Given the description of an element on the screen output the (x, y) to click on. 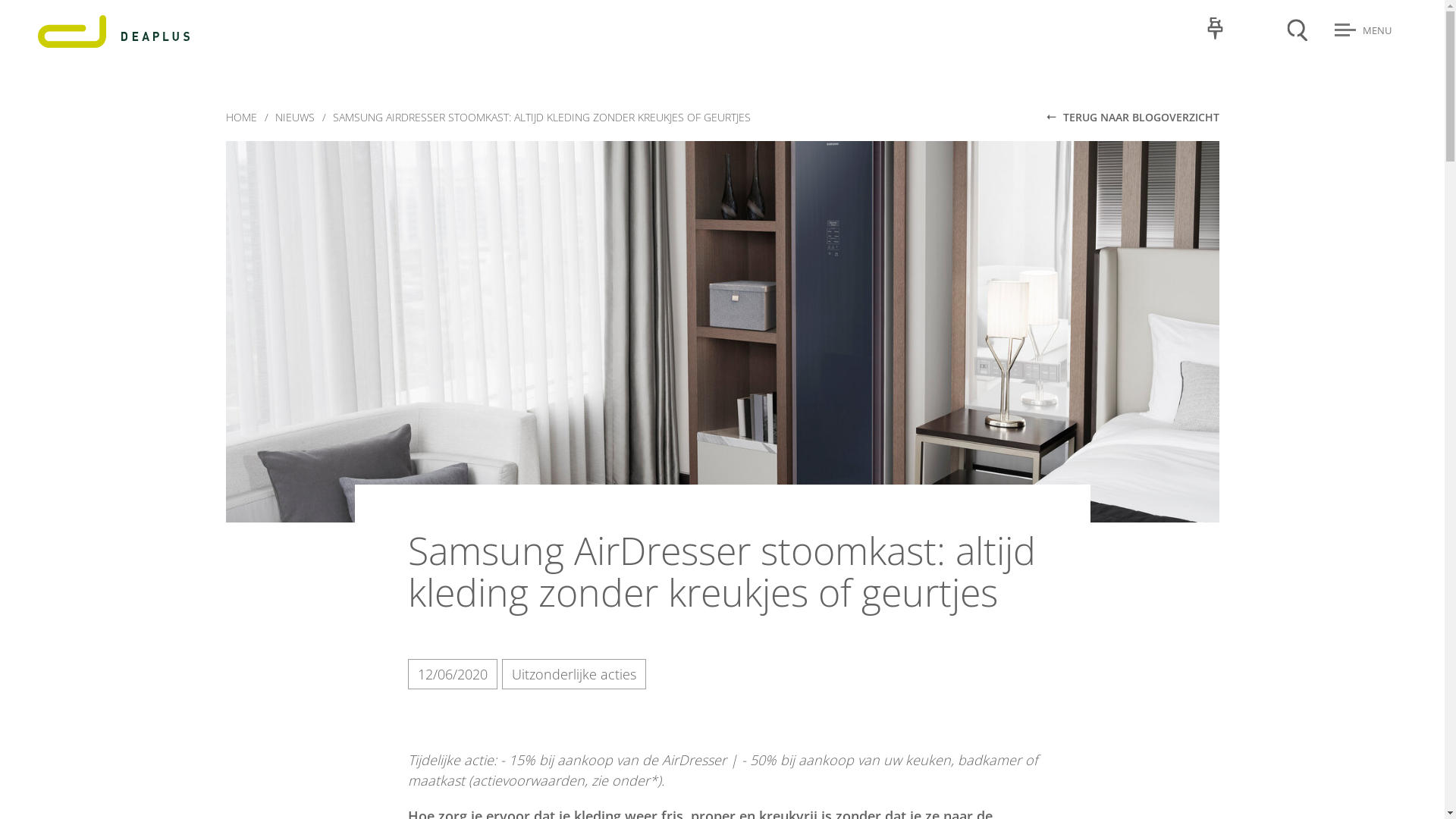
NIEUWS Element type: text (293, 116)
TERUG NAAR BLOGOVERZICHT Element type: text (1133, 116)
MENU Element type: text (1370, 30)
HOME Element type: text (241, 116)
